Given the description of an element on the screen output the (x, y) to click on. 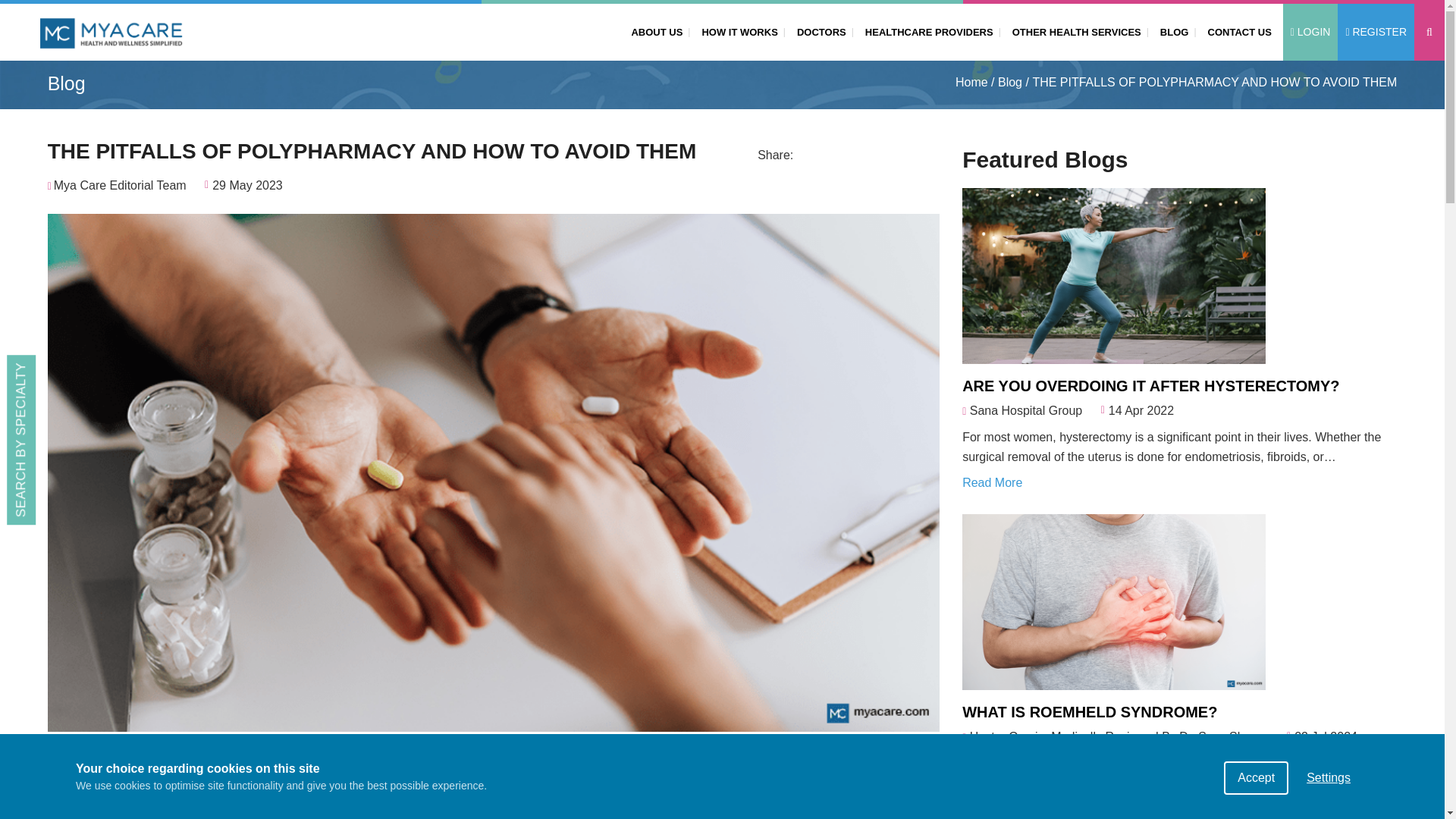
OTHER HEALTH SERVICES (1073, 31)
DOCTORS (817, 31)
Mya Care Editorial Team (119, 185)
CONTACT US (1236, 31)
Home (971, 82)
HEALTHCARE PROVIDERS (925, 31)
The Dangers of Inappropriate Polypharmacy (670, 756)
Settings (1328, 808)
LOGIN (1310, 32)
REGISTER (1375, 32)
